Given the description of an element on the screen output the (x, y) to click on. 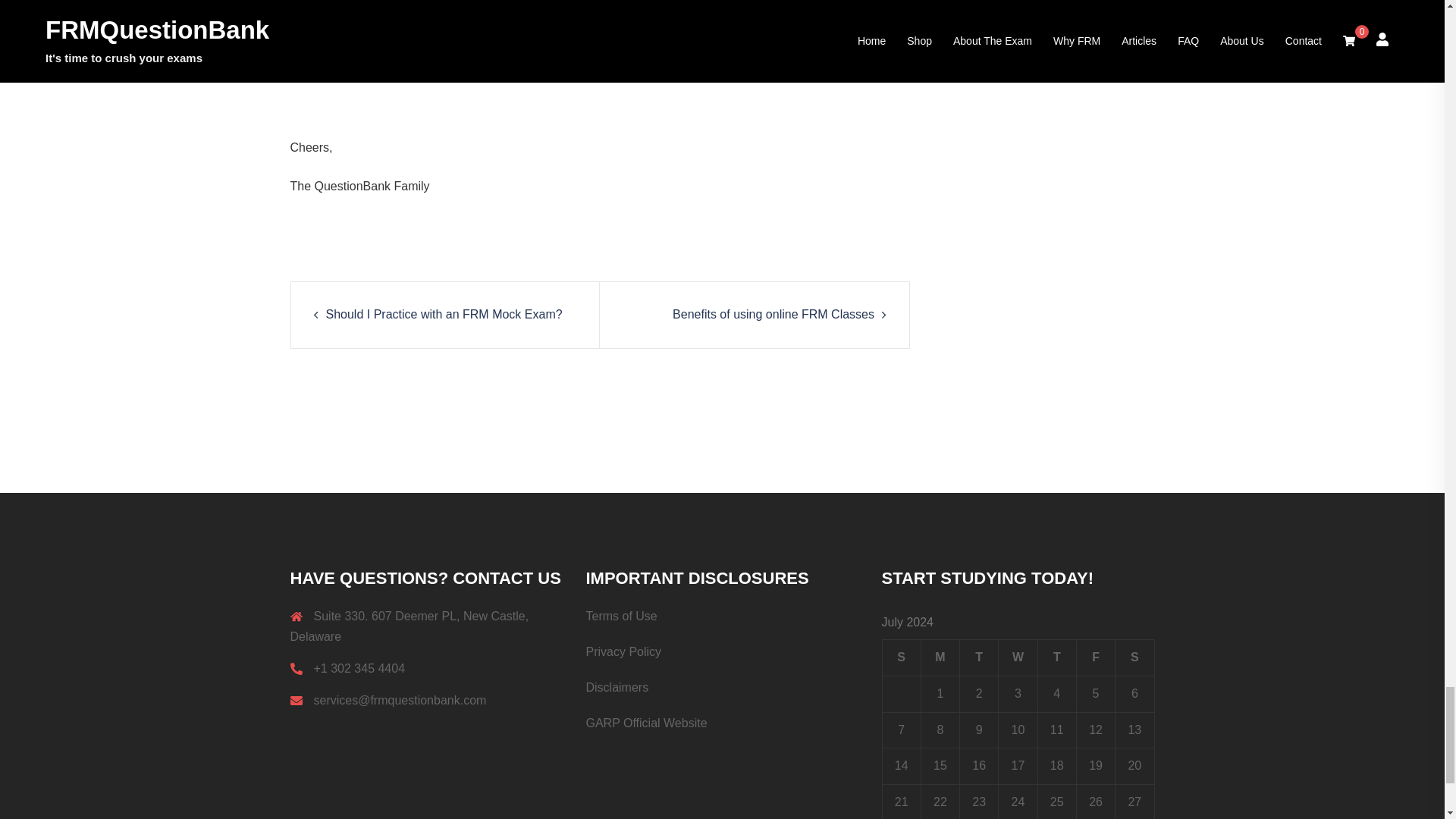
Sunday (901, 657)
Friday (1095, 657)
our free materials (422, 70)
the others (731, 50)
Saturday (1134, 657)
Benefits of using online FRM Classes (773, 314)
Should I Practice with an FRM Mock Exam? (444, 314)
Wednesday (1017, 657)
Monday (939, 657)
Thursday (1055, 657)
Tuesday (978, 657)
